Given the description of an element on the screen output the (x, y) to click on. 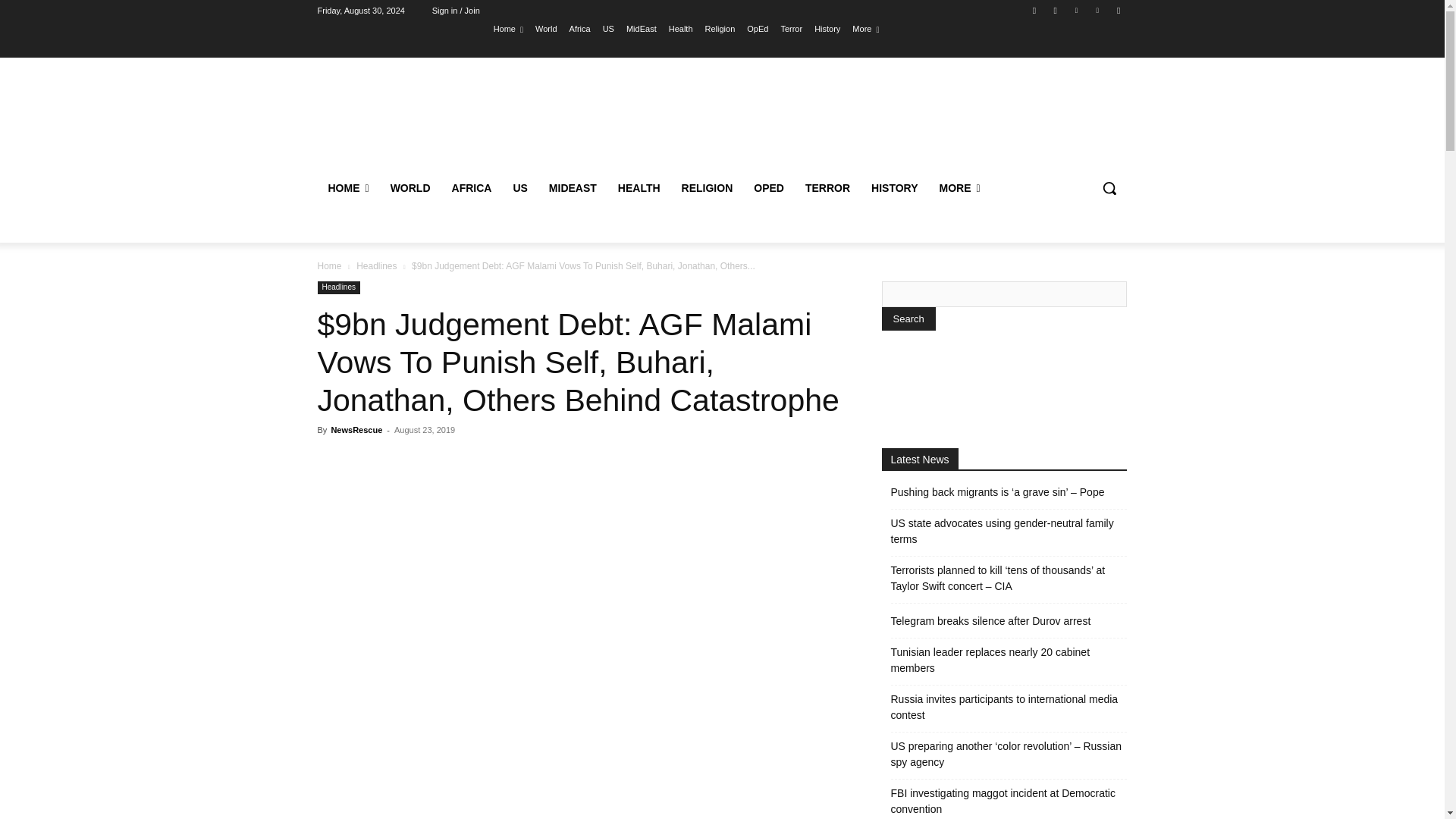
Vimeo (1097, 9)
Twitter (1075, 9)
Facebook (1034, 9)
Africa (580, 28)
MidEast (641, 28)
Instagram (1055, 9)
Religion (719, 28)
View all posts in Headlines (376, 266)
Health (680, 28)
Search (907, 318)
